Given the description of an element on the screen output the (x, y) to click on. 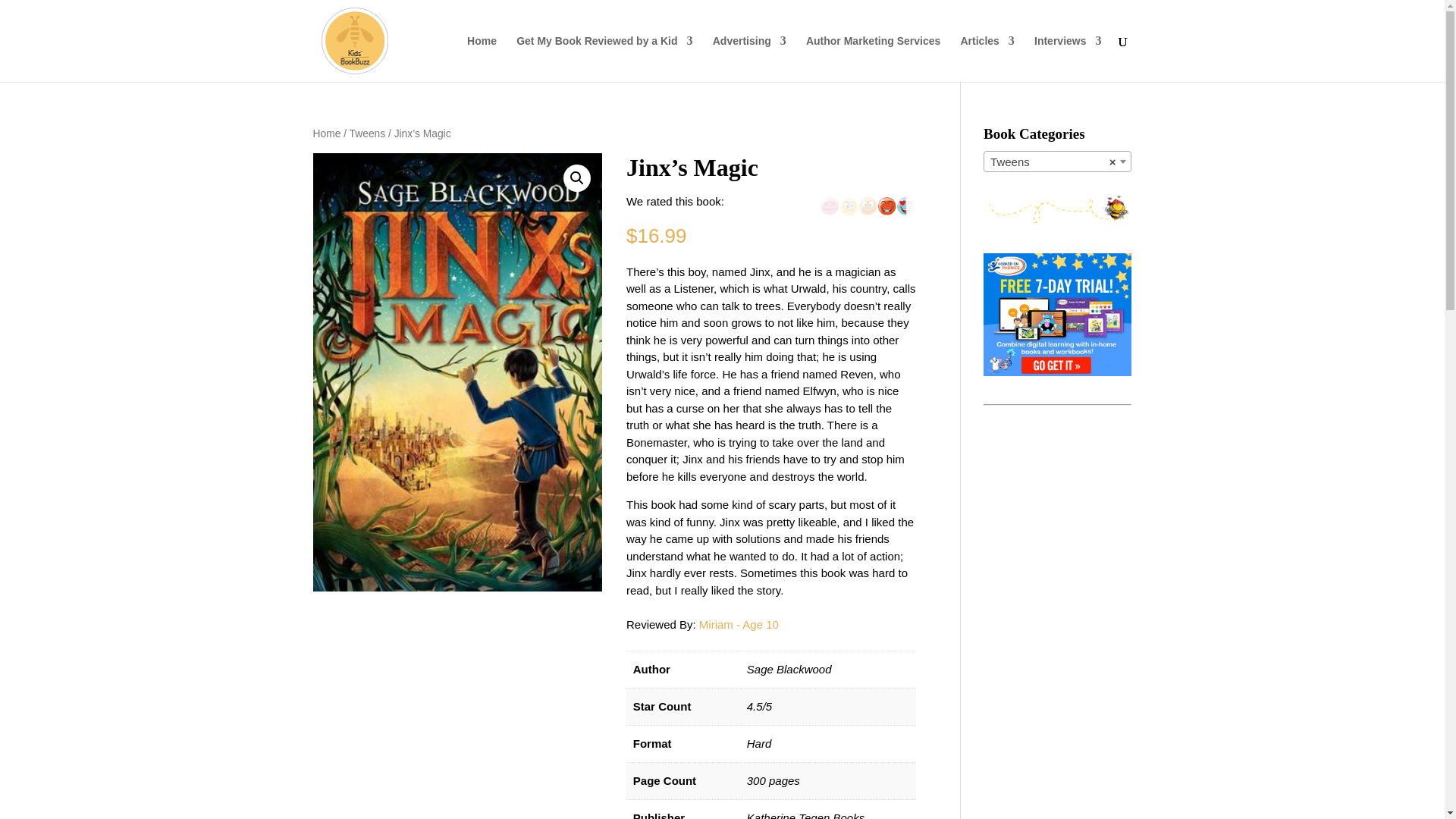
Get My Book Reviewed by a Kid (604, 58)
Articles (986, 58)
Interviews (1066, 58)
Advertising (749, 58)
Home (326, 133)
Author Marketing Services (873, 58)
Tweens (367, 133)
Tweens (1057, 161)
